Given the description of an element on the screen output the (x, y) to click on. 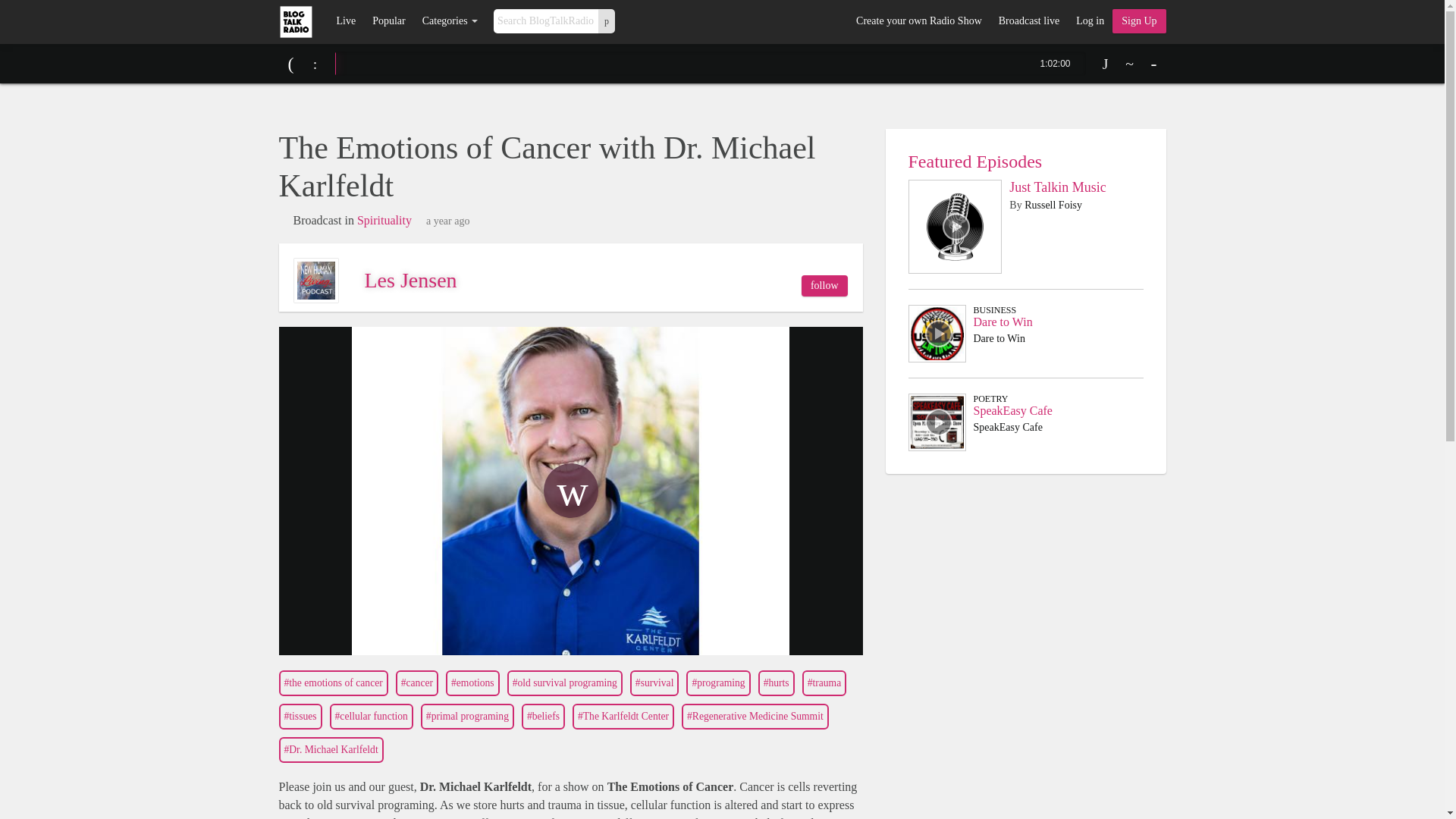
Thu, December 1, 2022 10:00 am (448, 221)
Create My Talk Show (1139, 21)
Sign Up (1139, 21)
Embed this episode (1129, 63)
Log in (1089, 20)
Follow Les Jensen (824, 285)
Download this episode (1105, 63)
Create your own Radio Show (918, 20)
Live (345, 20)
Broadcast live (1028, 20)
